Given the description of an element on the screen output the (x, y) to click on. 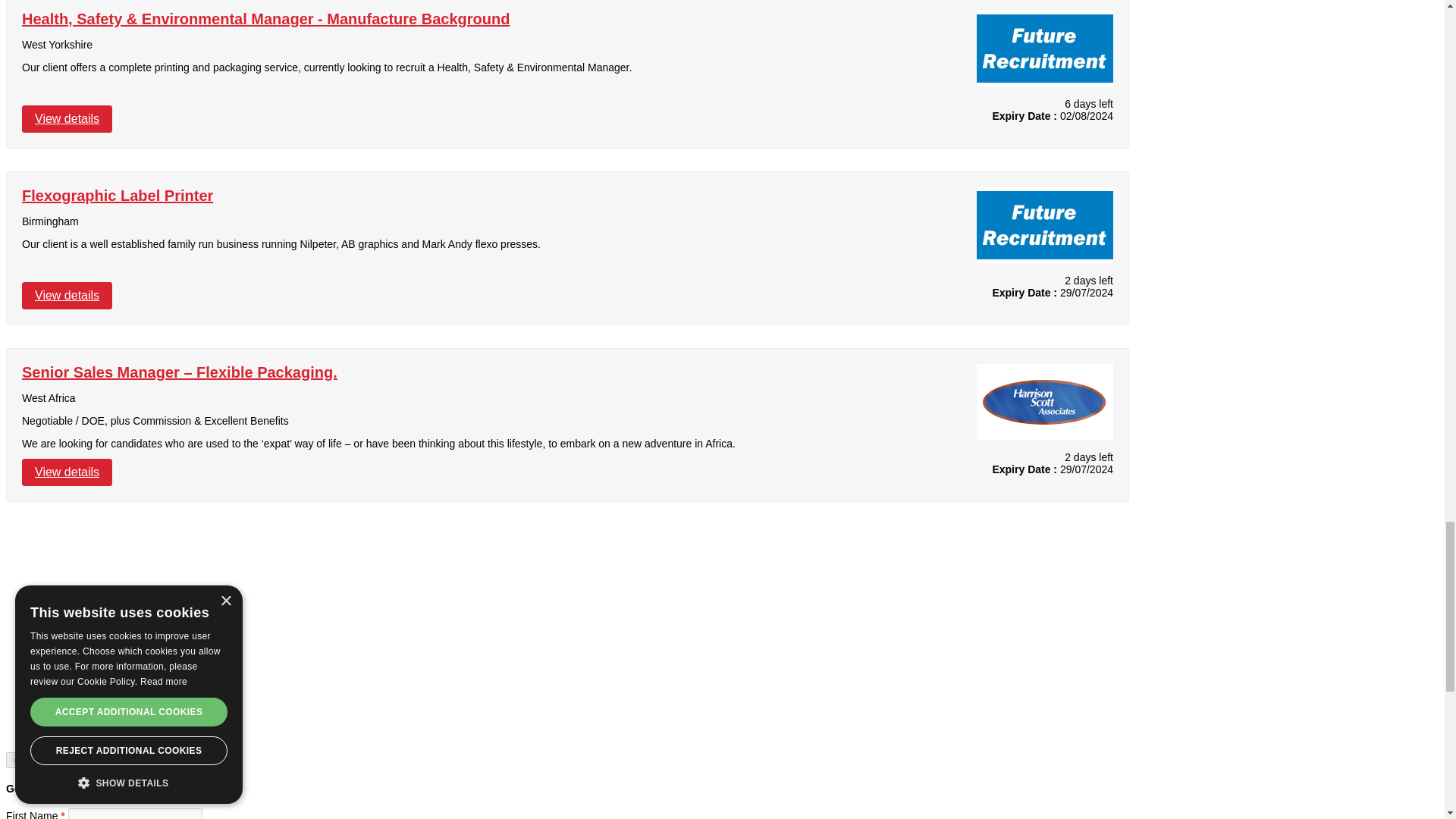
3rd party ad content (62, 619)
3rd party ad content (62, 703)
3rd party ad content (62, 536)
